Given the description of an element on the screen output the (x, y) to click on. 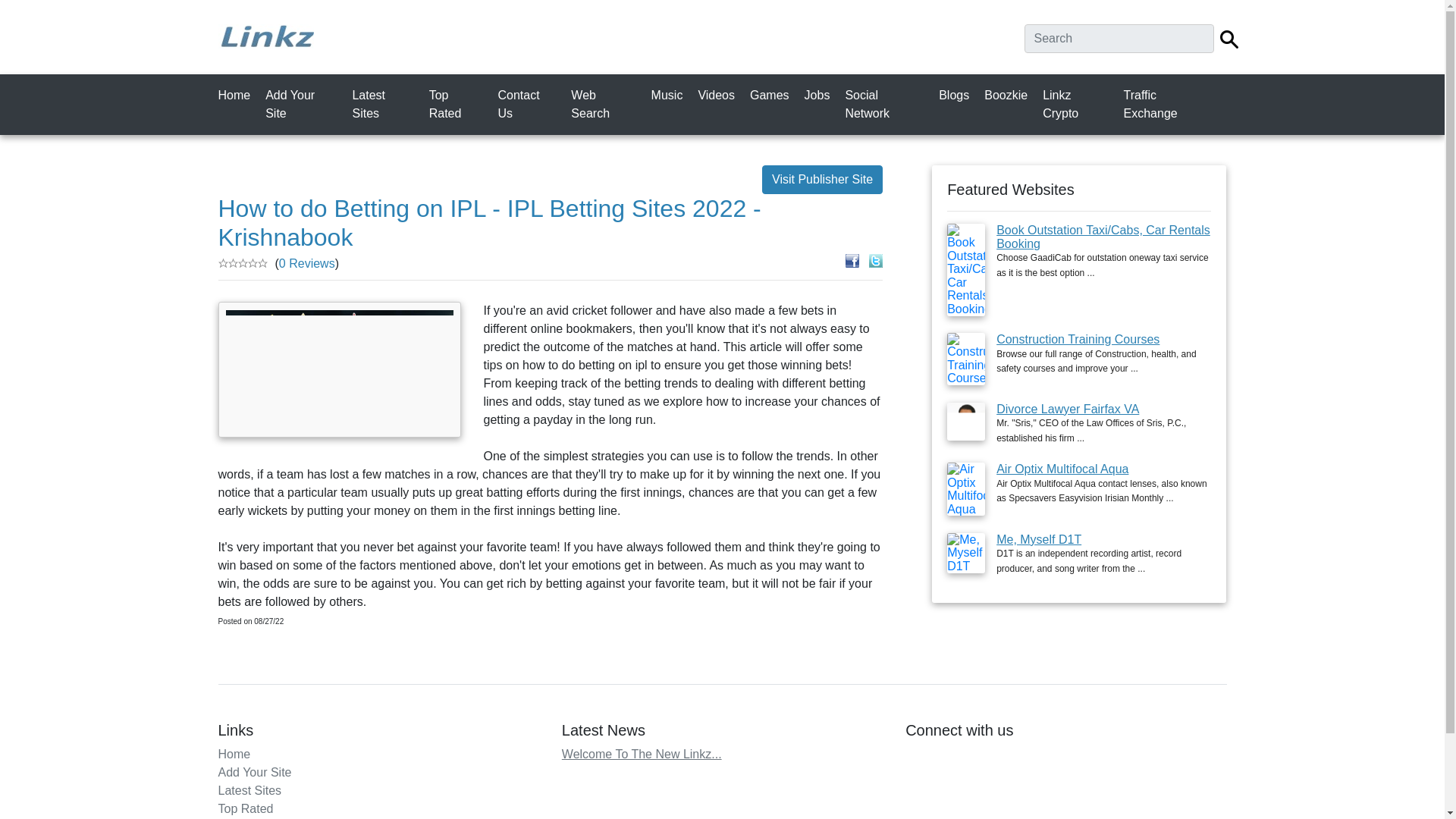
Visit Publisher Site (821, 179)
Traffic Exchange (1170, 104)
Home (234, 753)
Boozkie (1008, 95)
Web Search (606, 104)
Add Your Site (303, 104)
Construction Training Courses (1076, 338)
Games (771, 95)
Blogs (957, 95)
Contact Us (529, 104)
